Given the description of an element on the screen output the (x, y) to click on. 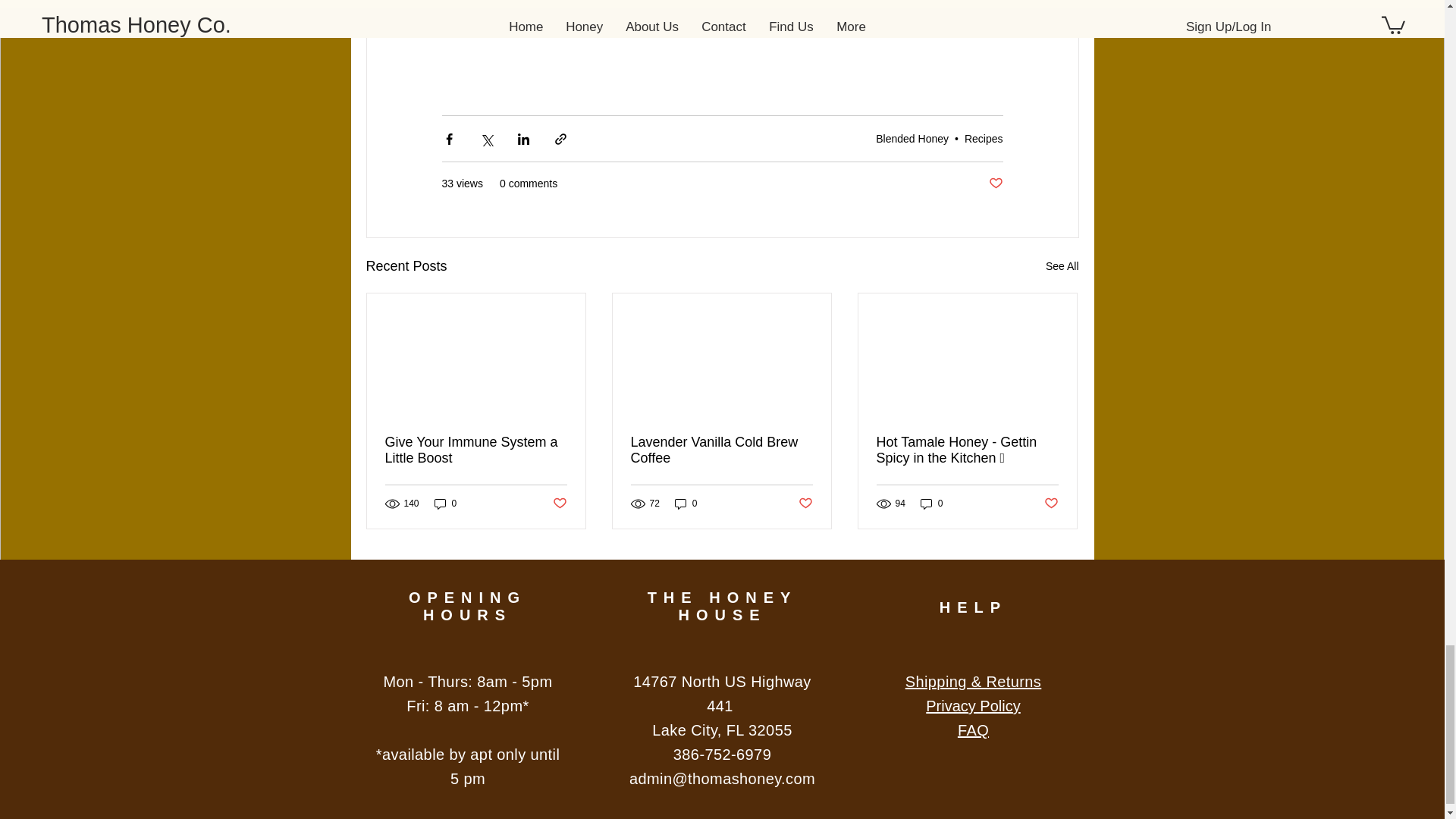
Blended Honey (912, 138)
Post not marked as liked (995, 183)
See All (1061, 266)
Recipes (983, 138)
0 (445, 503)
Give Your Immune System a Little Boost (476, 450)
